Given the description of an element on the screen output the (x, y) to click on. 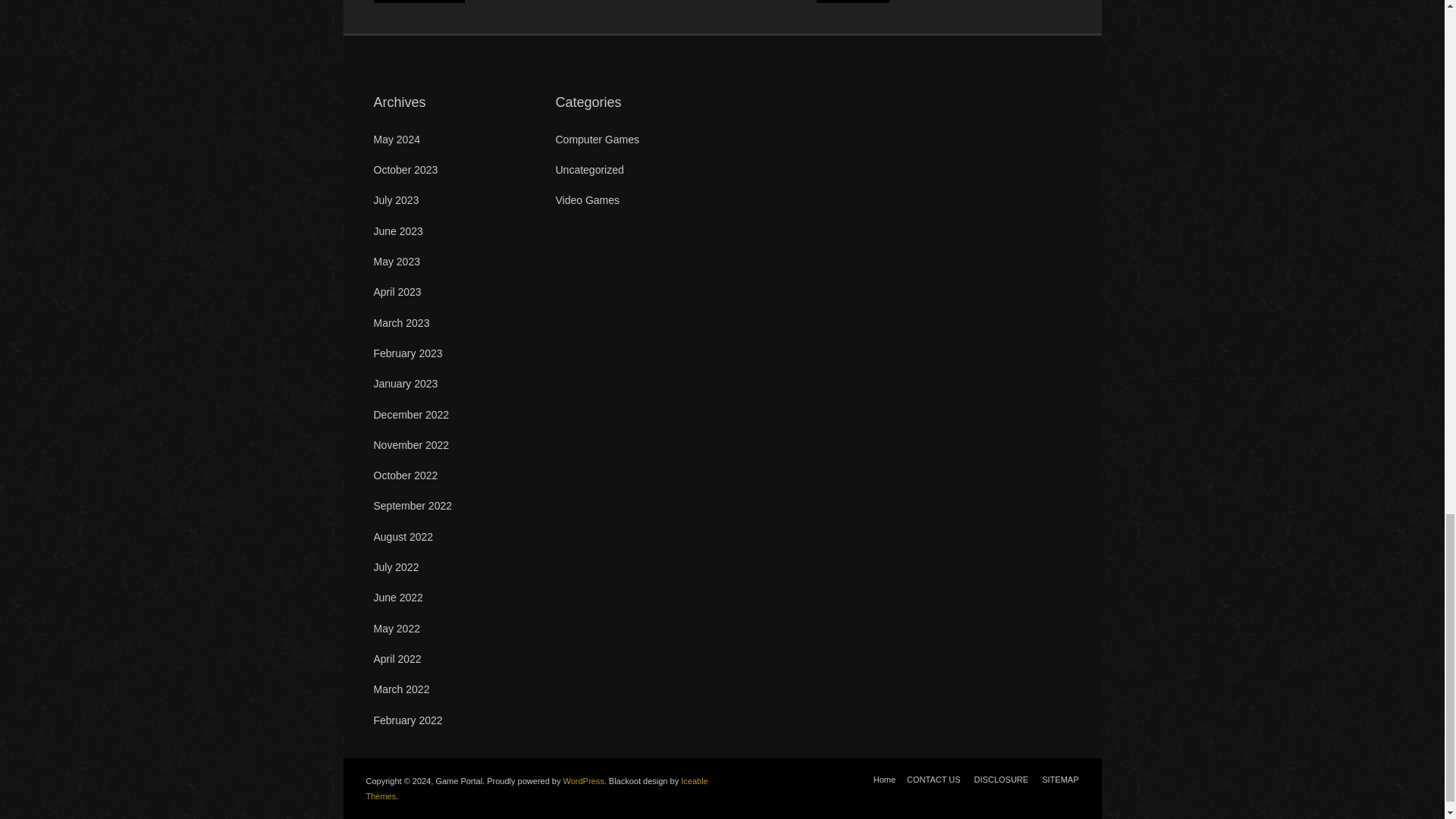
NEXT POST (852, 1)
Free and Premium WordPress Themes (536, 788)
PREVIOUS POST (418, 1)
Semantic Personal Publishing Platform (583, 780)
